Given the description of an element on the screen output the (x, y) to click on. 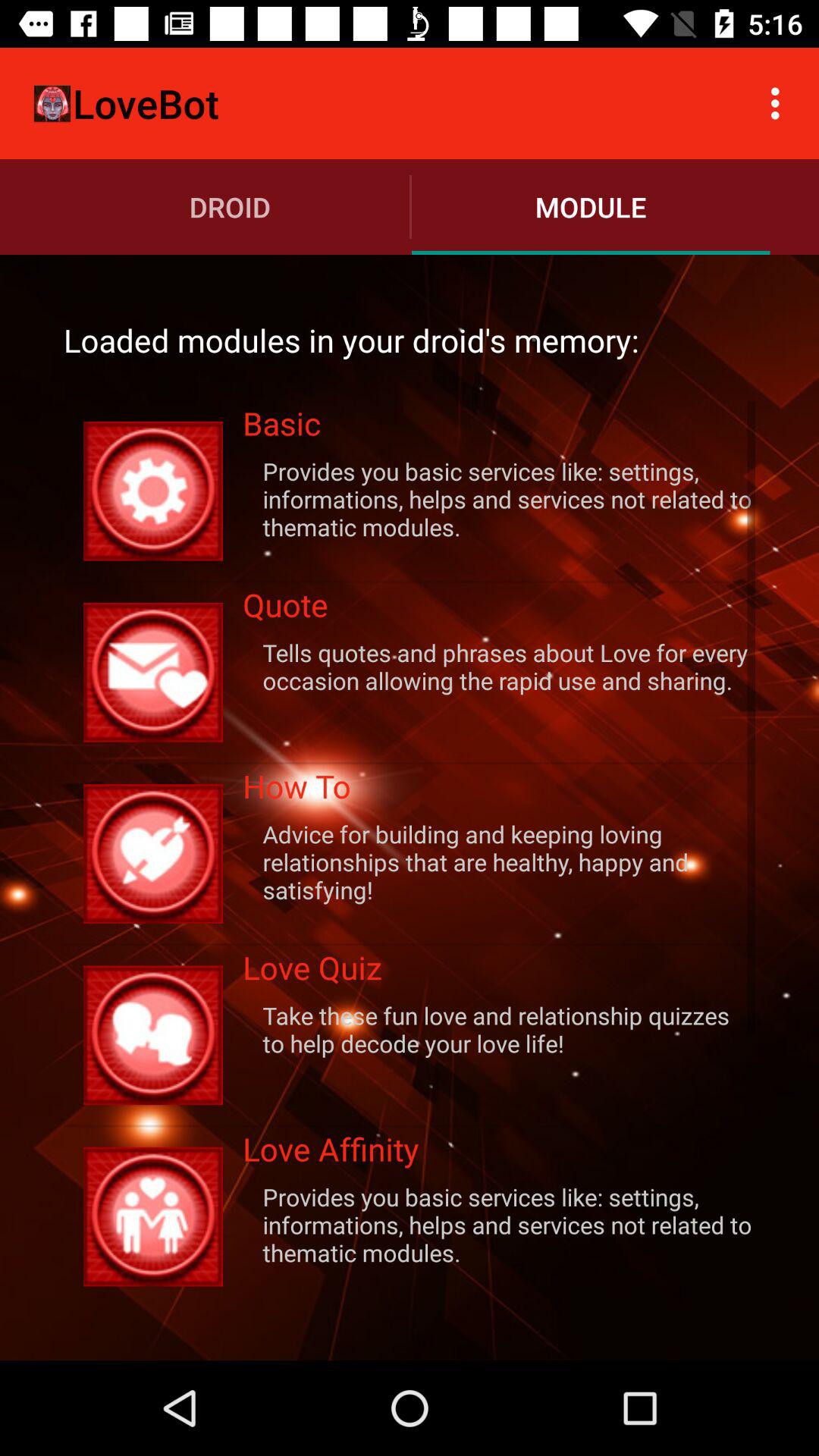
turn off icon below the how to icon (498, 861)
